Given the description of an element on the screen output the (x, y) to click on. 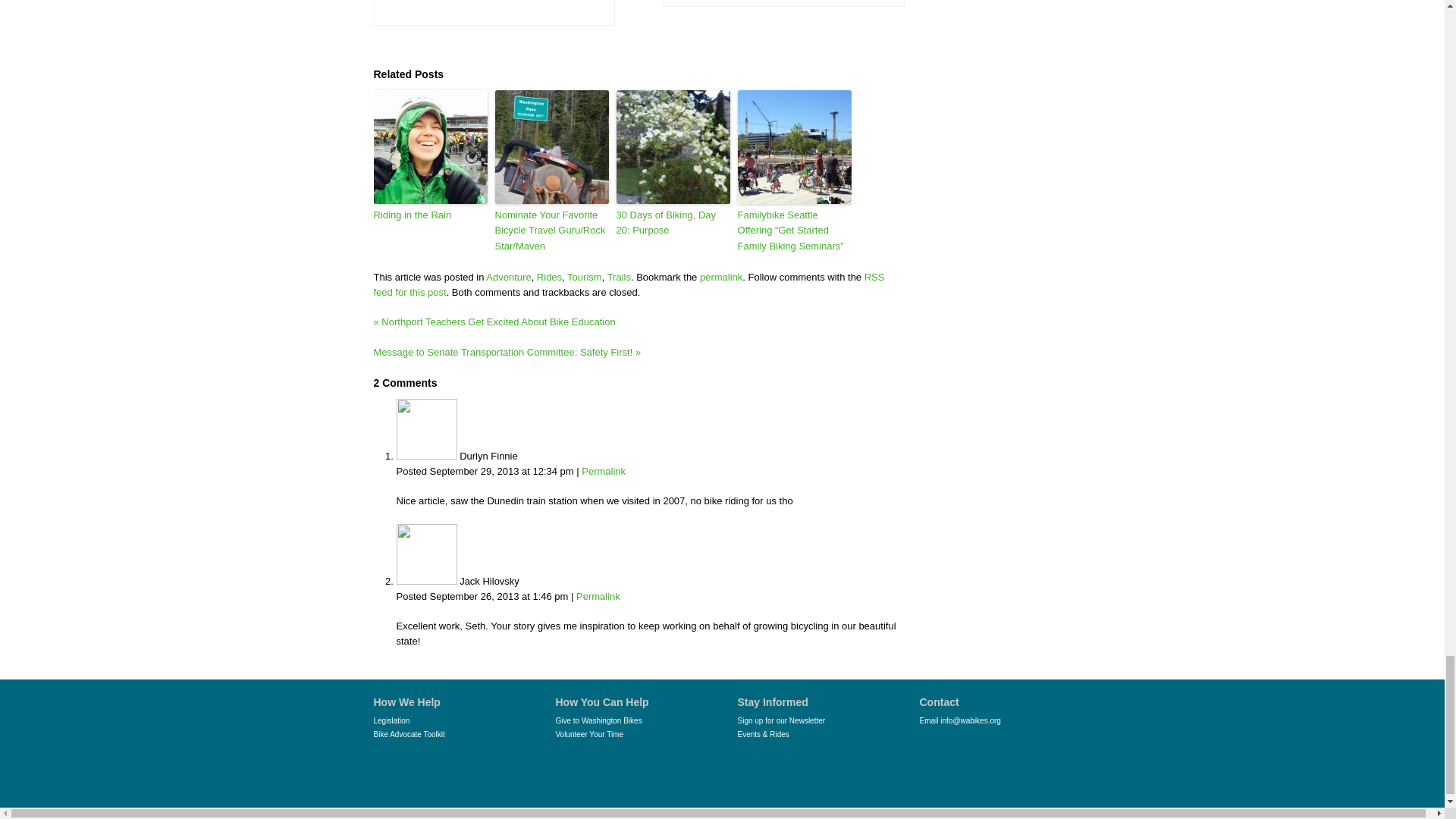
Permalink to this comment (603, 471)
Permalink to this comment (598, 595)
